Given the description of an element on the screen output the (x, y) to click on. 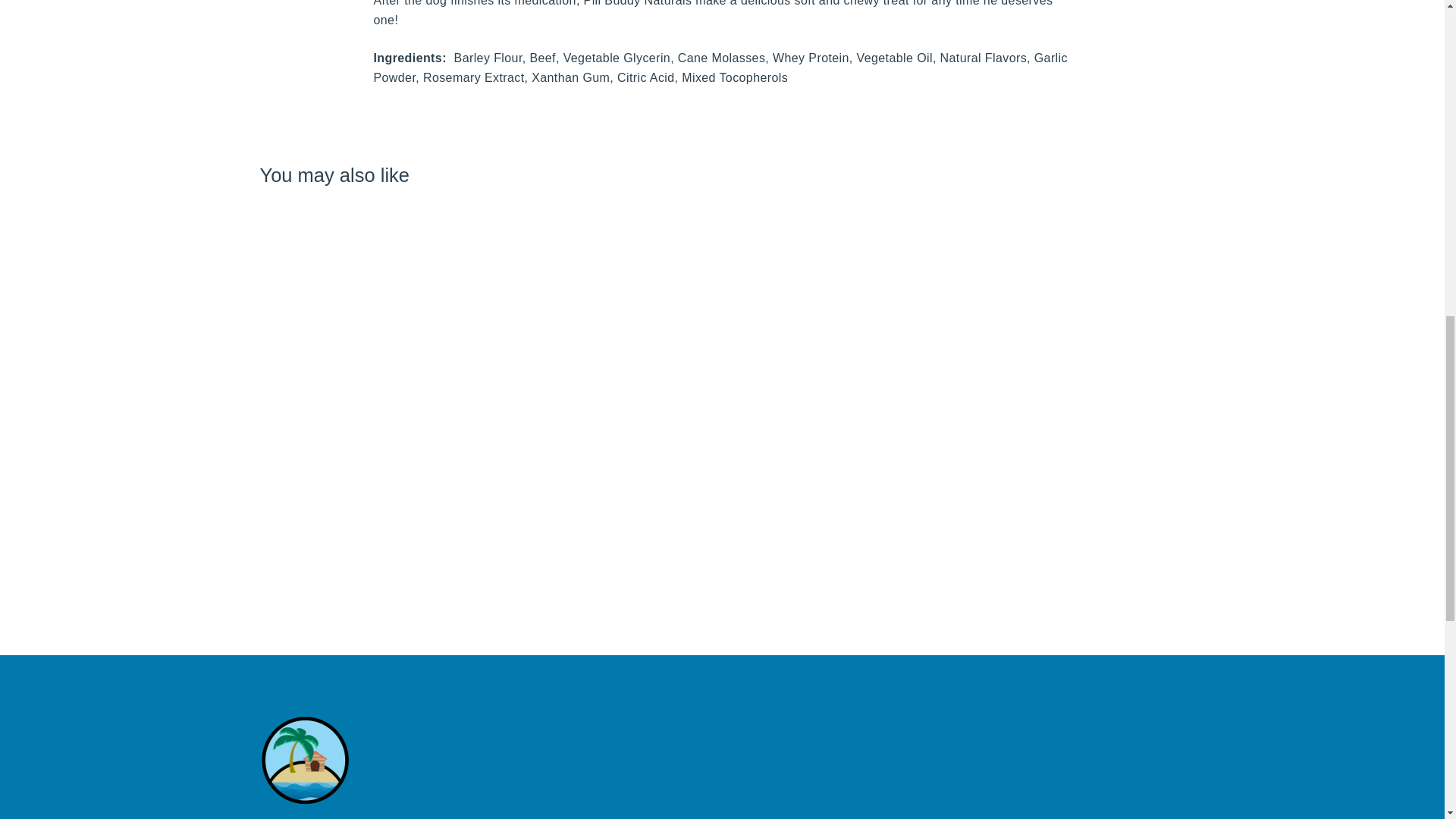
Page 3 (721, 43)
